Given the description of an element on the screen output the (x, y) to click on. 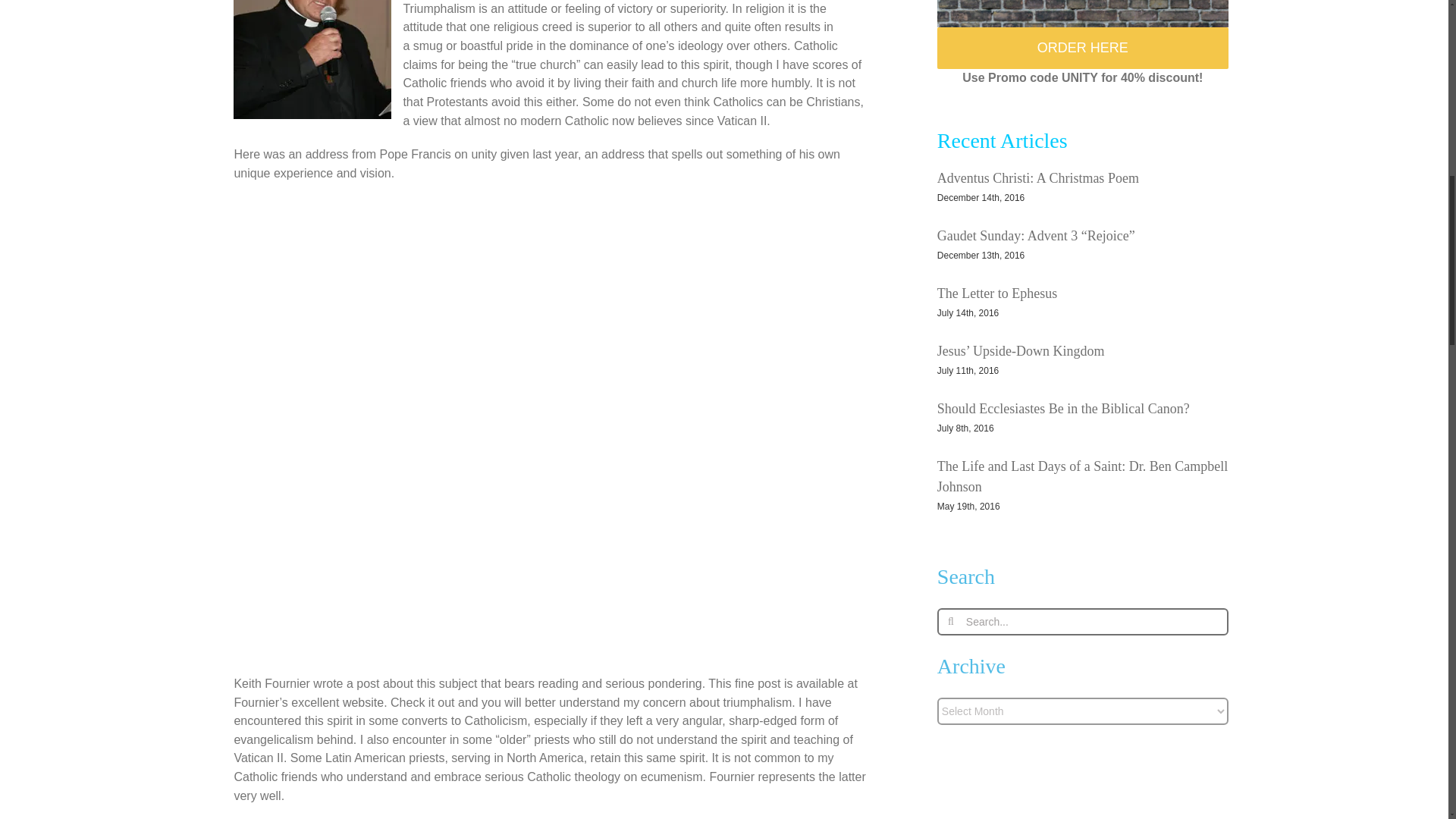
website (363, 702)
By the A-1 (1082, 13)
